Given the description of an element on the screen output the (x, y) to click on. 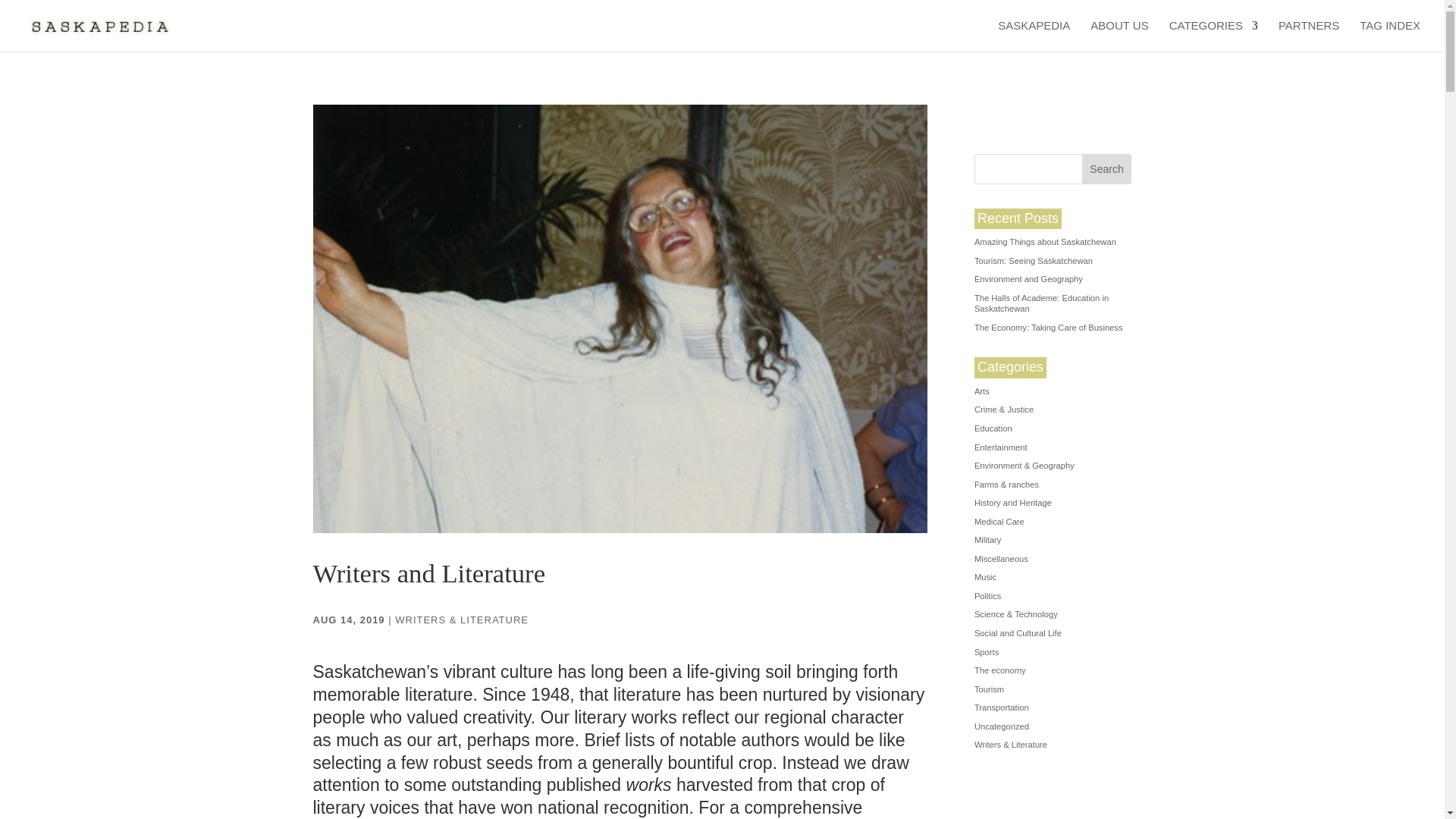
ABOUT US (1119, 35)
Entertainment (1000, 447)
CATEGORIES (1213, 35)
Tourism: Seeing Saskatchewan (1033, 260)
Writers and Literature (428, 573)
The Economy: Taking Care of Business (1048, 327)
Education (992, 428)
Amazing Things about Saskatchewan (1045, 241)
Search (1106, 168)
Environment and Geography (1028, 278)
Search (1106, 168)
PARTNERS (1308, 35)
The Halls of Academe: Education in Saskatchewan (1041, 303)
Arts (982, 390)
SASKAPEDIA (1033, 35)
